Given the description of an element on the screen output the (x, y) to click on. 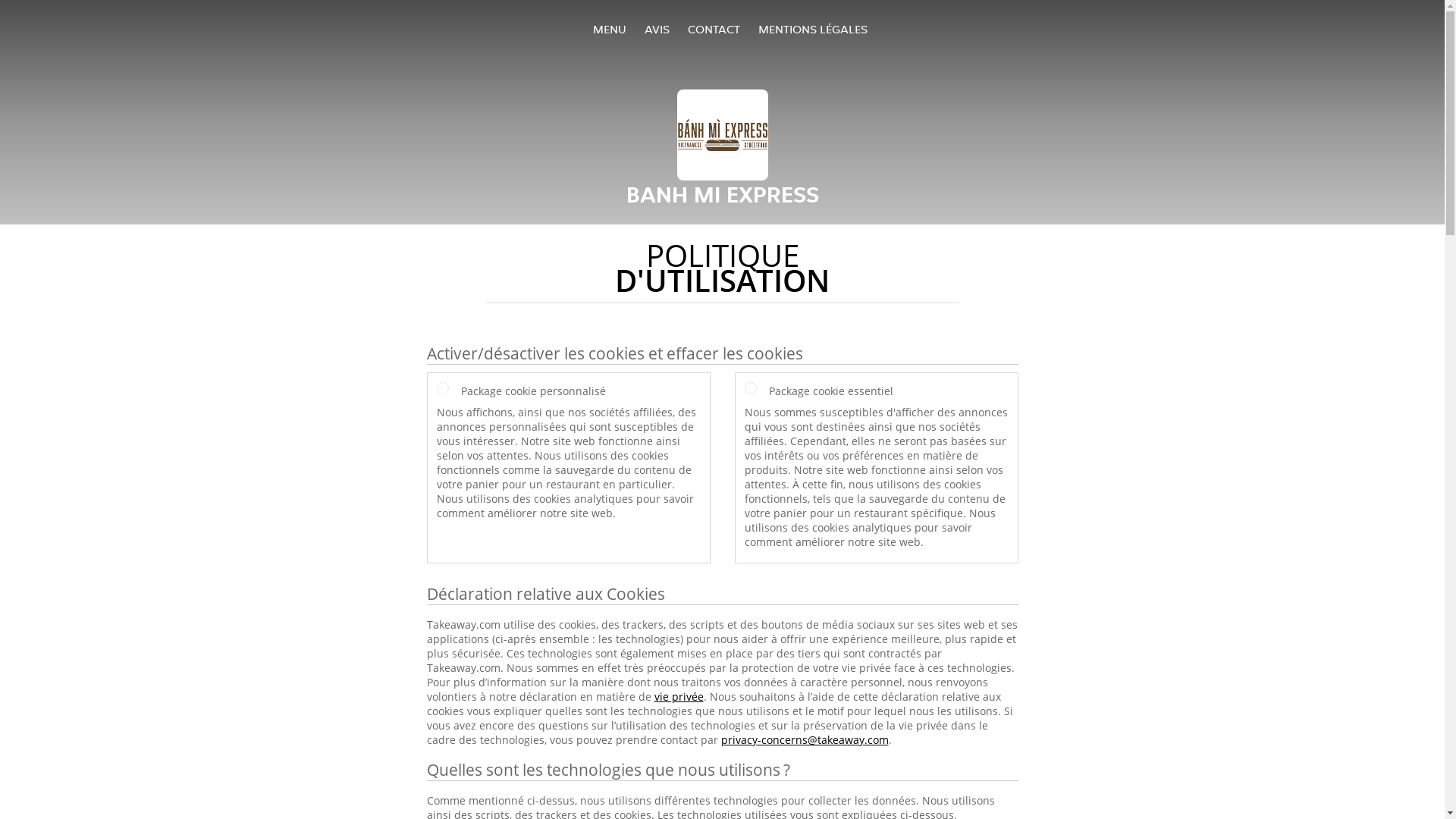
MENU Element type: text (609, 29)
AVIS Element type: text (656, 29)
privacy-concerns@takeaway.com Element type: text (804, 739)
CONTACT Element type: text (713, 29)
